Given the description of an element on the screen output the (x, y) to click on. 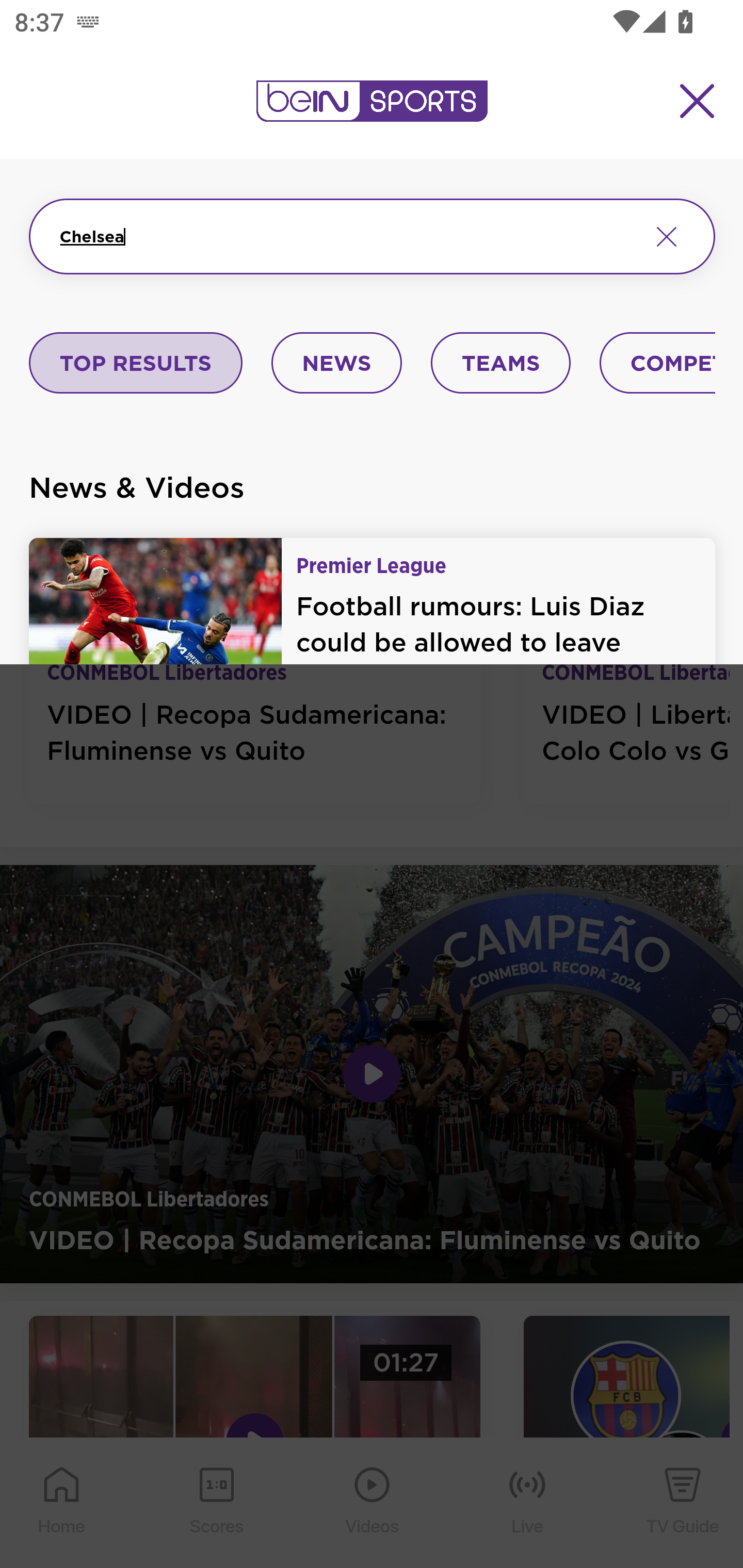
en-us?platform=mobile_android bein logo (371, 101)
Close Menu Icon (697, 101)
Chelsea (346, 235)
TOP RESULTS (135, 363)
NEWS (336, 363)
TEAMS (500, 363)
COMPETITIONS (657, 363)
